Given the description of an element on the screen output the (x, y) to click on. 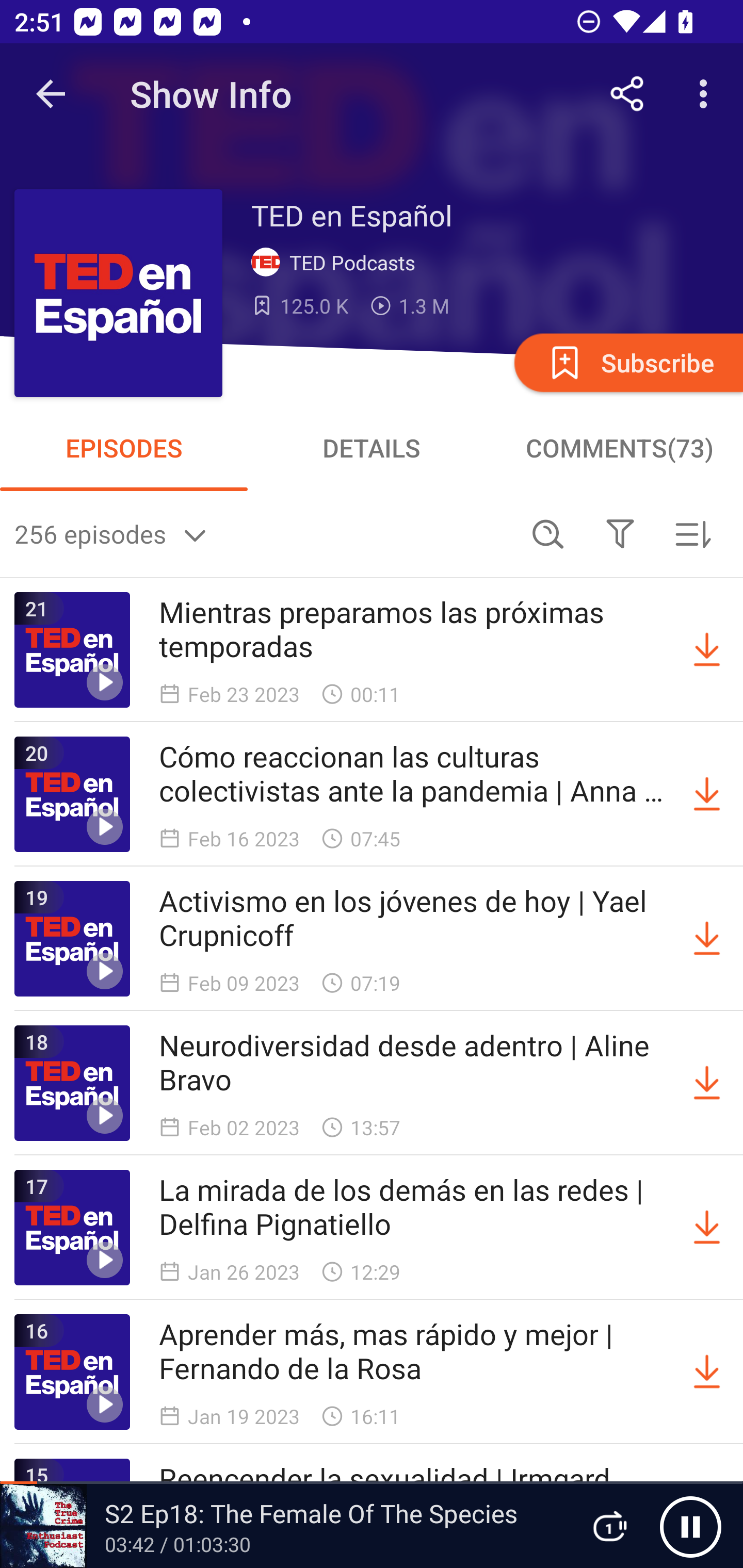
Navigate up (50, 93)
Share (626, 93)
More options (706, 93)
TED Podcasts (337, 262)
Subscribe (627, 361)
EPISODES (123, 447)
DETAILS (371, 447)
COMMENTS(73) (619, 447)
256 episodes  (262, 533)
 Search (547, 533)
 (619, 533)
 Sorted by newest first (692, 533)
Download (706, 649)
Download (706, 793)
Download (706, 939)
Download (706, 1083)
Download (706, 1227)
Download (706, 1371)
Pause (690, 1526)
